Given the description of an element on the screen output the (x, y) to click on. 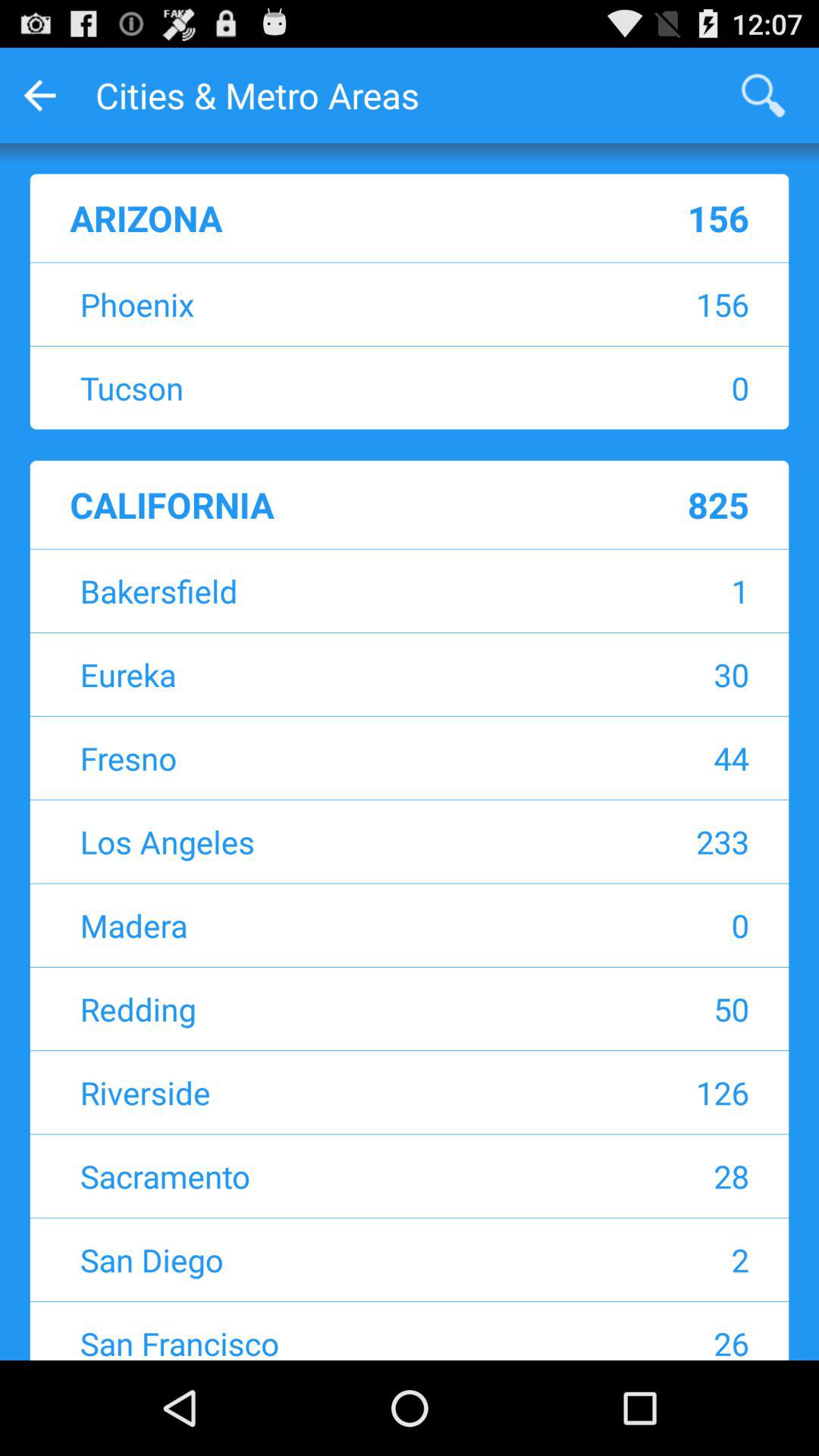
tap item to the left of 233 icon (314, 841)
